Given the description of an element on the screen output the (x, y) to click on. 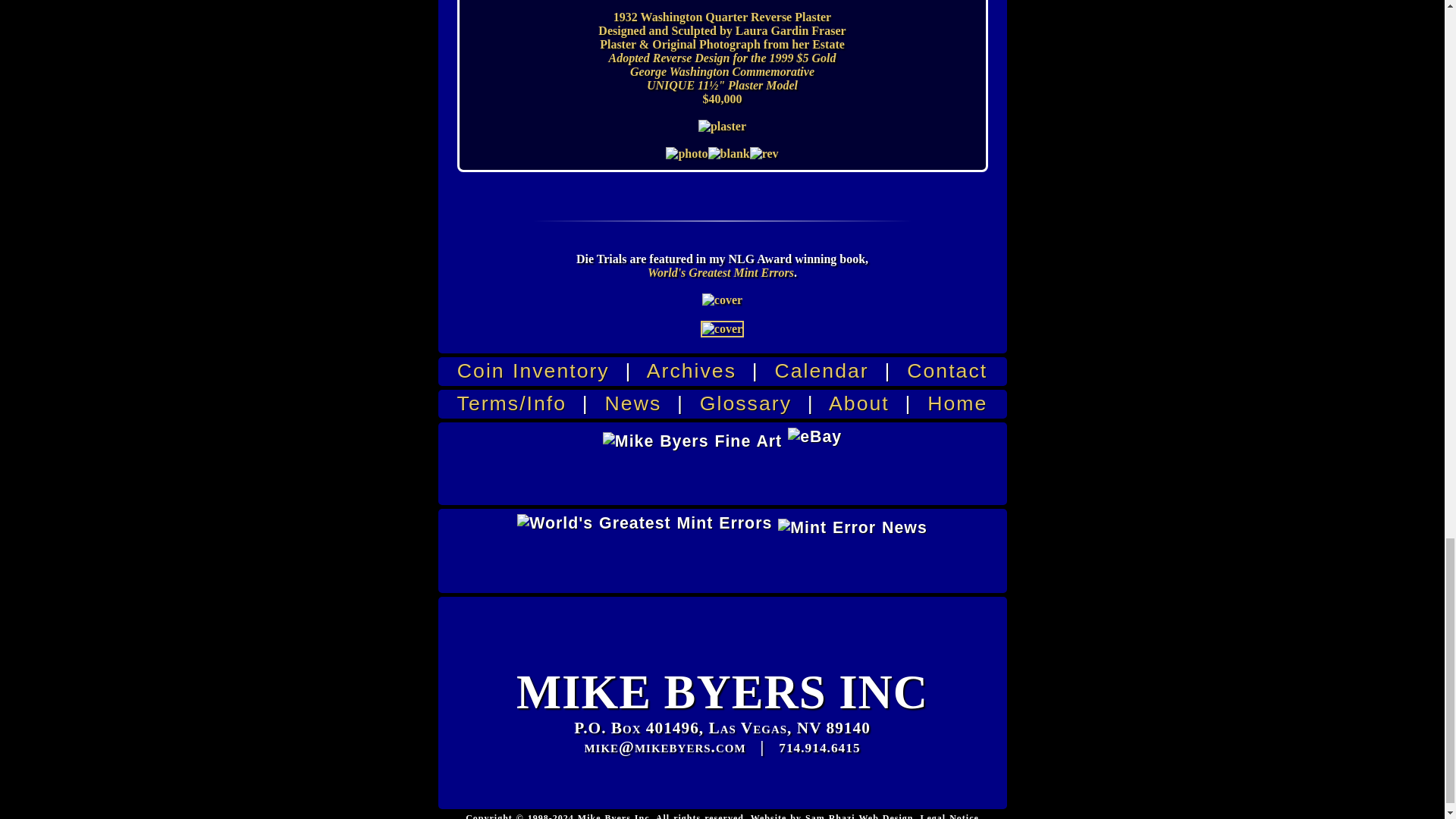
Contact (947, 370)
News (633, 403)
Calendar (821, 370)
World's Greatest Mint Errors (720, 272)
Archives (691, 370)
P.O. Box 401496, Las Vegas, NV 89140 (721, 728)
About (858, 403)
Glossary (746, 403)
Home (957, 403)
714.914.6415 (819, 748)
